Given the description of an element on the screen output the (x, y) to click on. 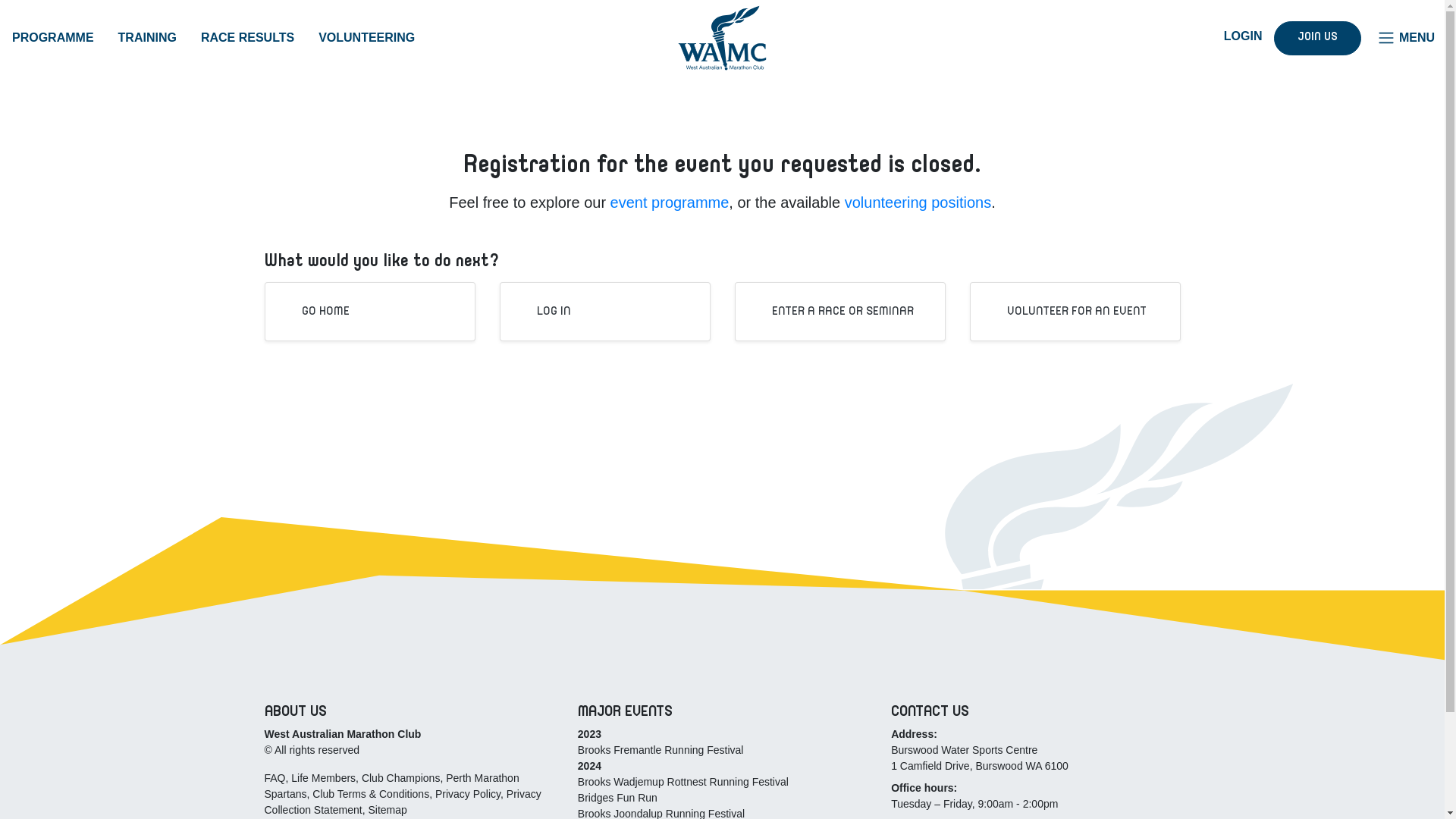
Sitemap Element type: text (386, 809)
FACEBOOK Element type: text (1130, 36)
FAQ Element type: text (274, 777)
Perth Marathon Spartans Element type: text (390, 785)
LOG IN Element type: text (543, 311)
INSTAGRAM Element type: text (1169, 36)
VOLUNTEERING Element type: text (366, 37)
Privacy Policy Element type: text (467, 793)
Life Members Element type: text (323, 777)
ENTER A RACE OR SEMINAR Element type: text (831, 311)
Brooks Wadjemup Rottnest Running Festival Element type: text (682, 781)
MENU Element type: text (1405, 37)
Brooks Fremantle Running Festival Element type: text (660, 749)
Bridges Fun Run Element type: text (617, 797)
TRAINING Element type: text (147, 37)
event programme Element type: text (669, 202)
volunteering positions Element type: text (917, 202)
RACE RESULTS Element type: text (247, 37)
Privacy Collection Statement Element type: text (401, 801)
Club Terms & Conditions Element type: text (370, 793)
Club Champions Element type: text (400, 777)
LOGIN
LOGIN Element type: text (1231, 36)
GO HOME Element type: text (314, 311)
VOLUNTEER FOR AN EVENT Element type: text (1065, 311)
JOIN US Element type: text (1317, 38)
PROGRAMME Element type: text (53, 37)
